Given the description of an element on the screen output the (x, y) to click on. 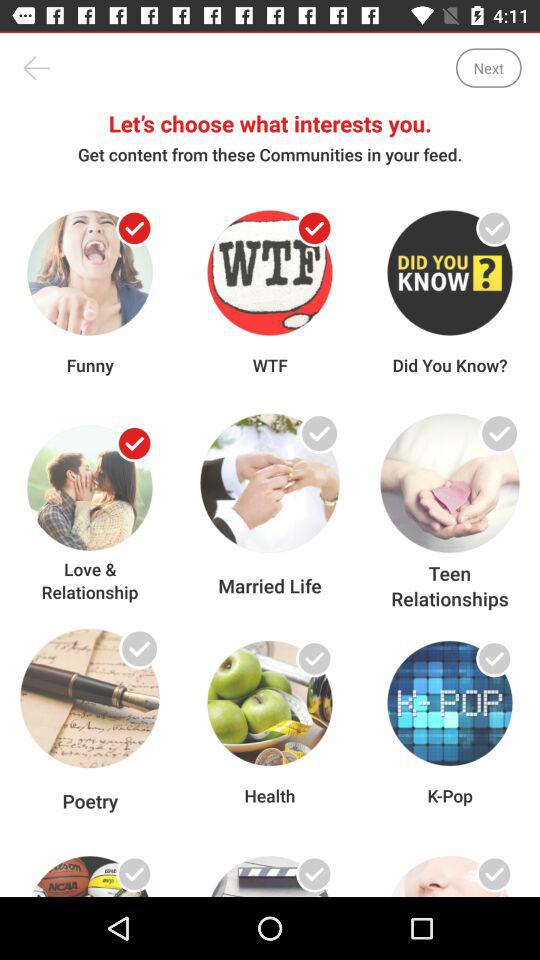
select sports (134, 873)
